Given the description of an element on the screen output the (x, y) to click on. 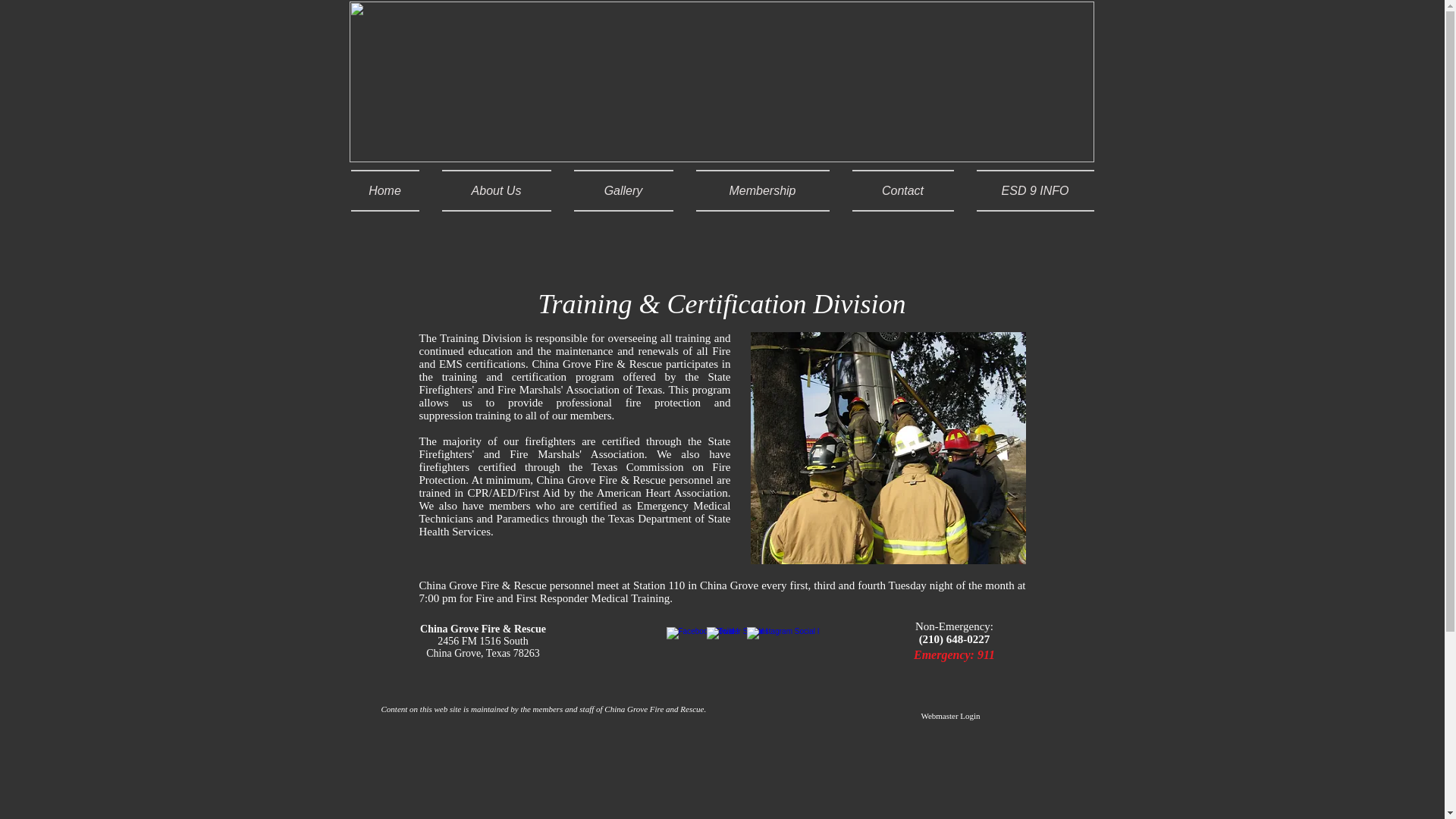
About Us (496, 190)
Contact (901, 190)
Gallery (623, 190)
Home (389, 190)
ashlee fire pics 035.JPG (888, 448)
Webmaster Login (949, 716)
Membership (762, 190)
ESD 9 INFO (1028, 190)
